Given the description of an element on the screen output the (x, y) to click on. 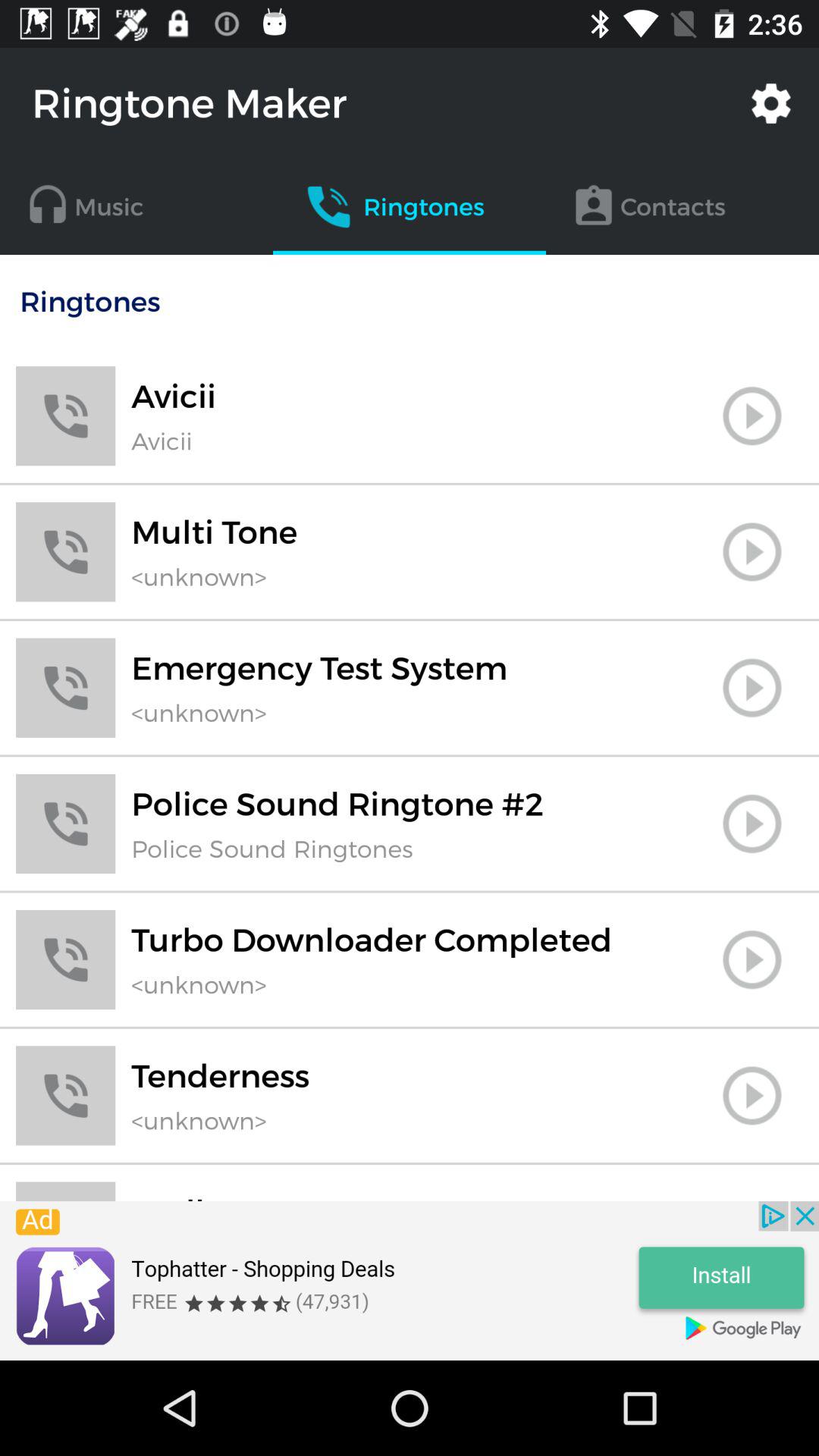
play (752, 1095)
